Given the description of an element on the screen output the (x, y) to click on. 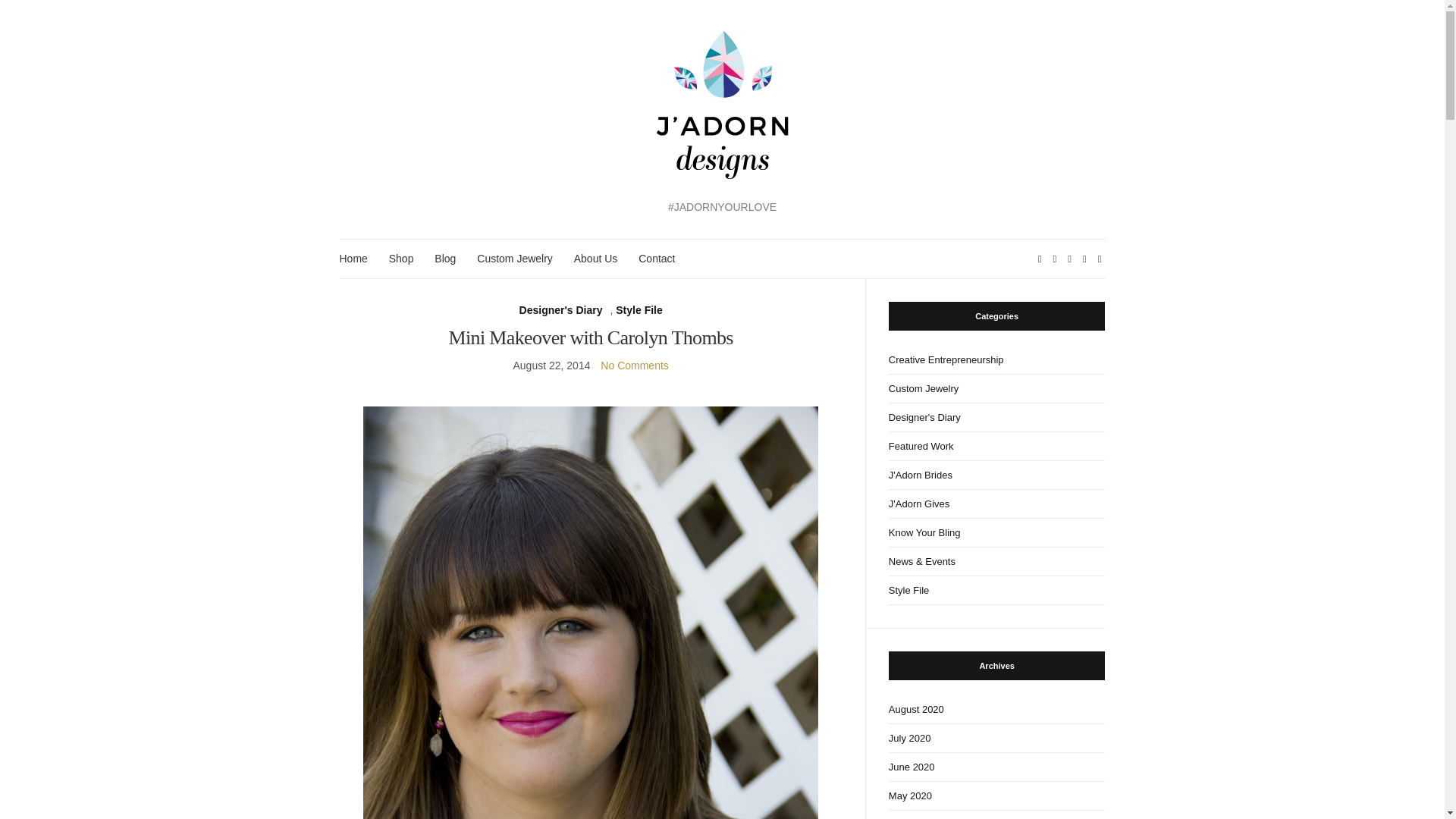
Style File (638, 310)
Shop (400, 258)
Designer's Diary (560, 310)
No Comments (633, 365)
Contact (657, 258)
About Us (595, 258)
Home (353, 258)
Blog (444, 258)
Custom Jewelry (515, 258)
